Given the description of an element on the screen output the (x, y) to click on. 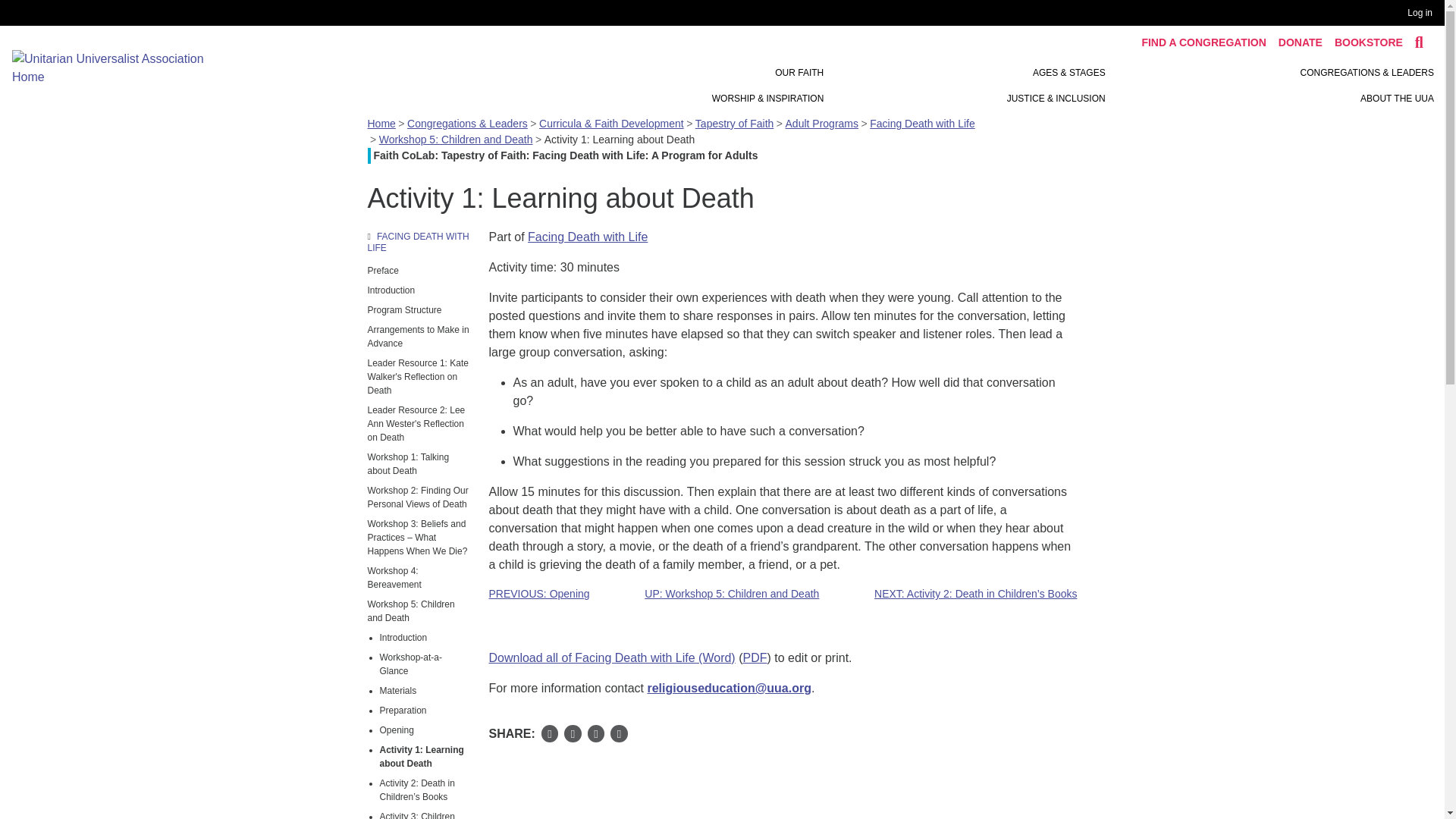
Share by email (596, 733)
Print this page. (618, 735)
BOOKSTORE (1368, 42)
OUR FAITH (799, 72)
Search (1419, 42)
Site Menu (962, 85)
Share this page by email. (596, 735)
Go up this menu (418, 242)
Share on Facebook (550, 733)
Share on Twitter (572, 733)
DONATE (1299, 42)
Home (117, 66)
Log in (1423, 12)
Print this page (618, 733)
FIND A CONGREGATION (1203, 42)
